Given the description of an element on the screen output the (x, y) to click on. 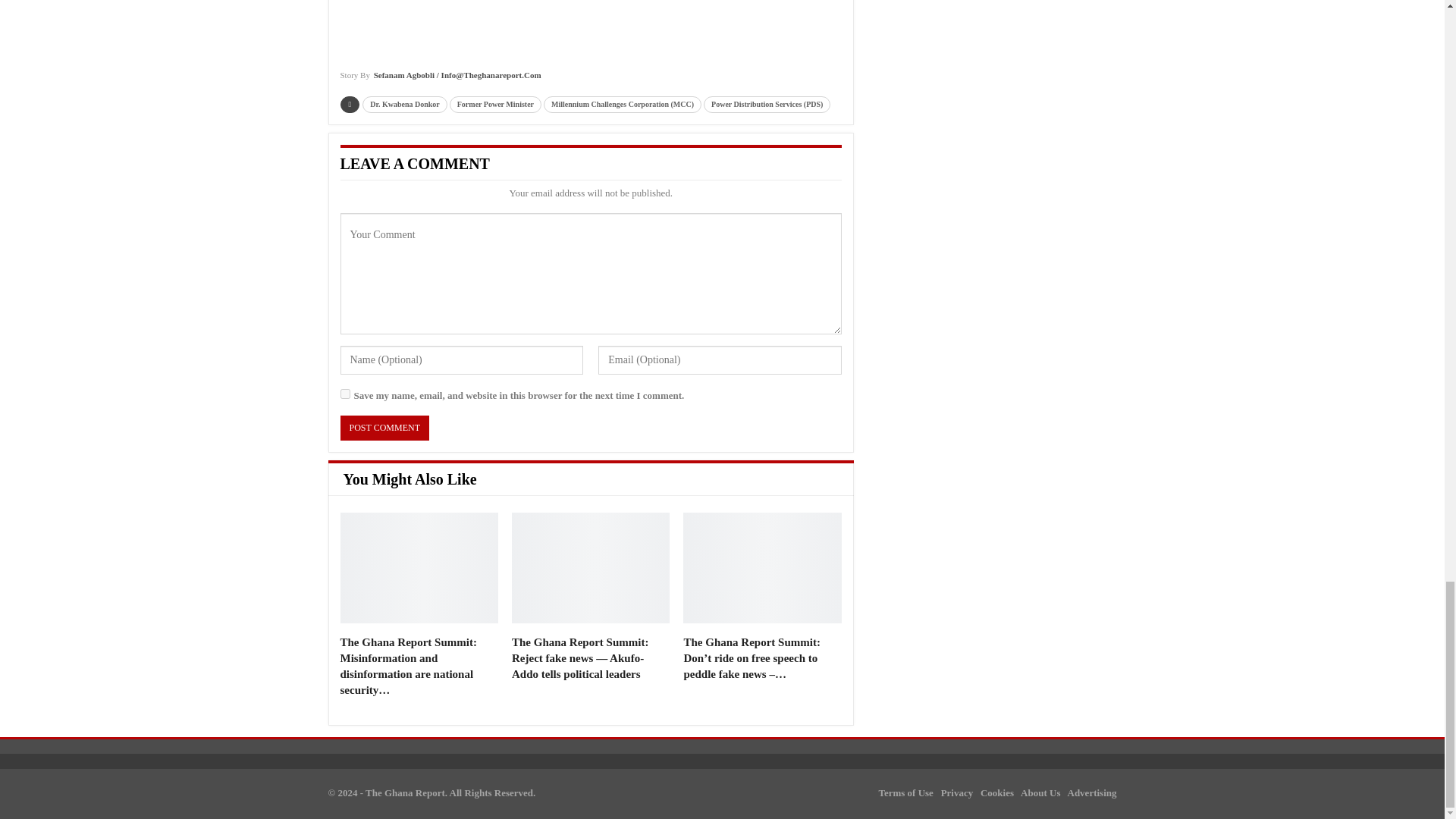
Post Comment (383, 427)
yes (344, 393)
Former Power Minister (495, 104)
Post Comment (383, 427)
Browse Author Articles (439, 80)
Dr. Kwabena Donkor (404, 104)
